Given the description of an element on the screen output the (x, y) to click on. 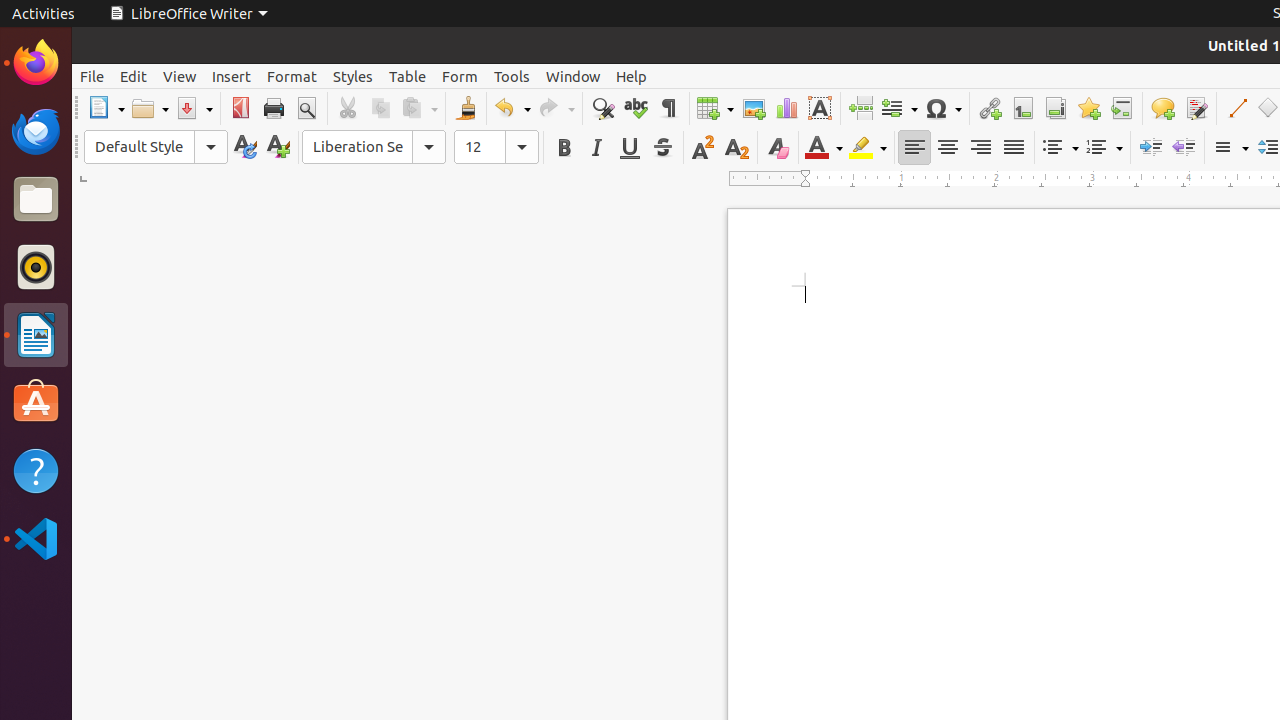
LibreOffice Writer Element type: menu (188, 13)
Paragraph Style Element type: combo-box (156, 147)
Chart Element type: push-button (786, 108)
Open Element type: push-button (150, 108)
Cross-reference Element type: push-button (1121, 108)
